Given the description of an element on the screen output the (x, y) to click on. 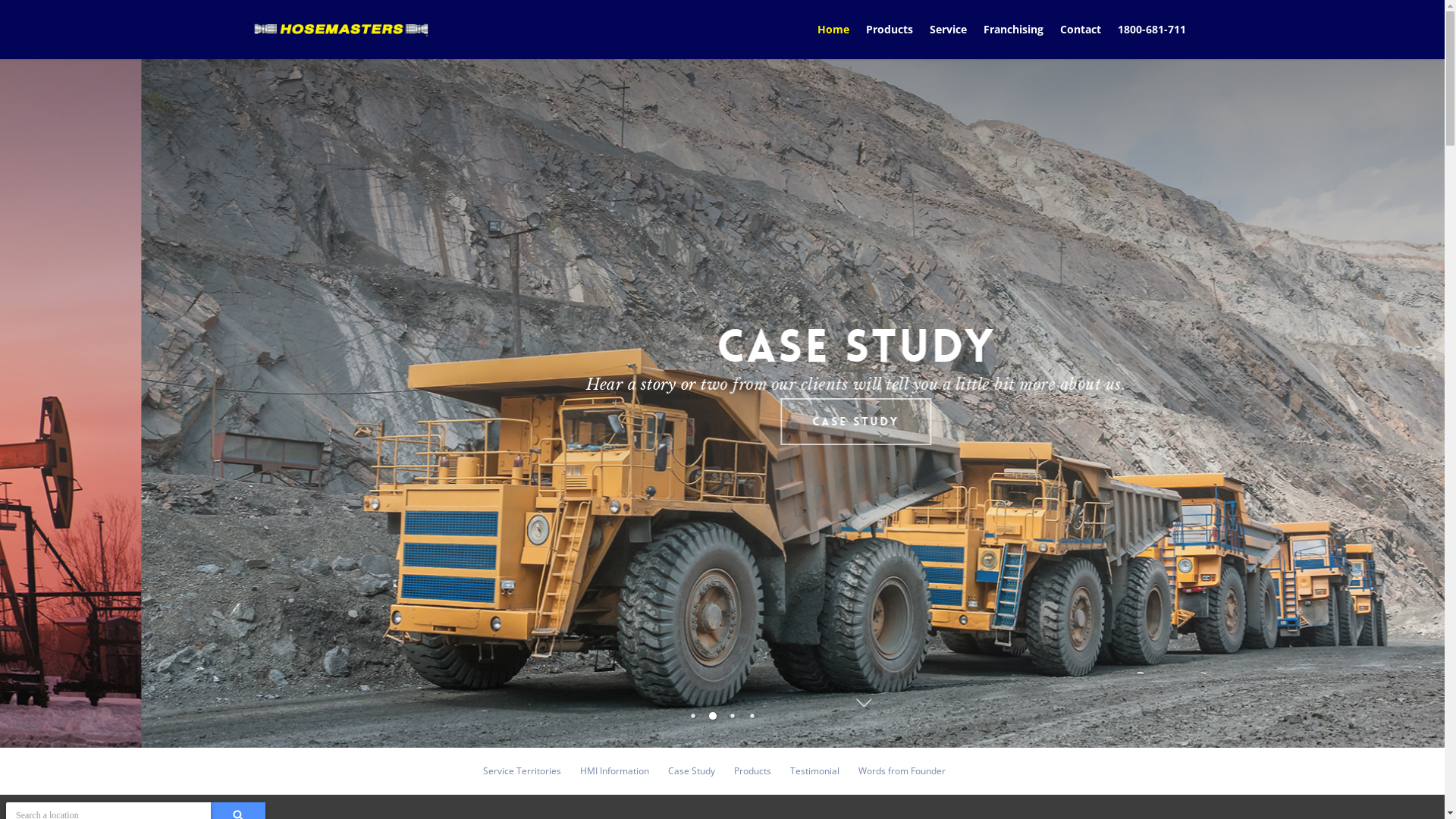
Products Element type: text (889, 40)
Home Element type: text (832, 40)
Service Territories Element type: text (522, 770)
Contact Element type: text (1080, 40)
Words from Founder Element type: text (901, 770)
Case Study Element type: text (691, 770)
Testimonial Element type: text (814, 770)
HMI Information Element type: text (614, 770)
FIND A HOSEMASTER Element type: text (714, 421)
1800-681-711 Element type: text (1151, 40)
Products Element type: text (752, 770)
Franchising Element type: text (1013, 40)
Service Element type: text (948, 40)
